Given the description of an element on the screen output the (x, y) to click on. 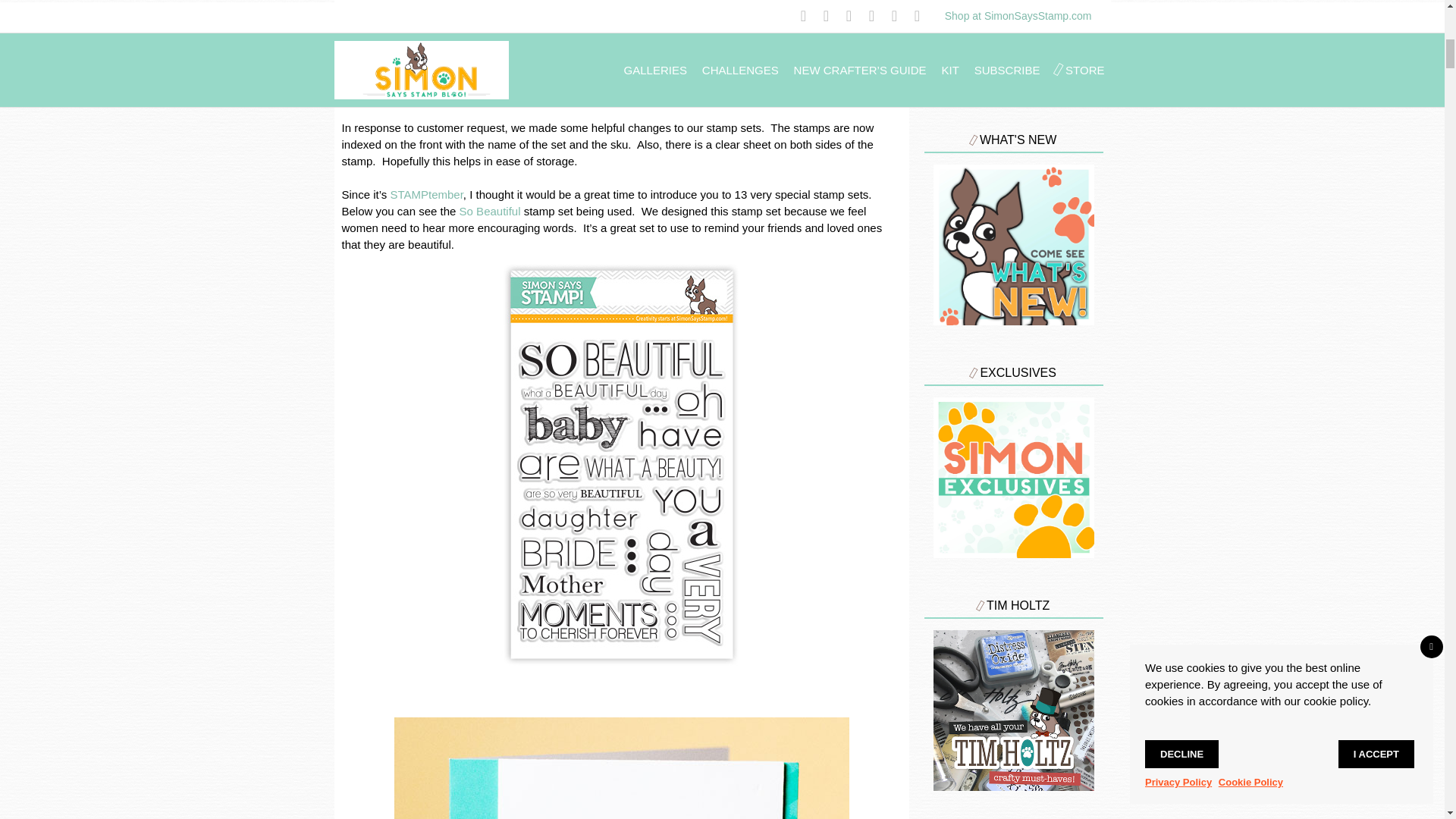
STAMPtember (426, 194)
So Beautiful (490, 210)
